Given the description of an element on the screen output the (x, y) to click on. 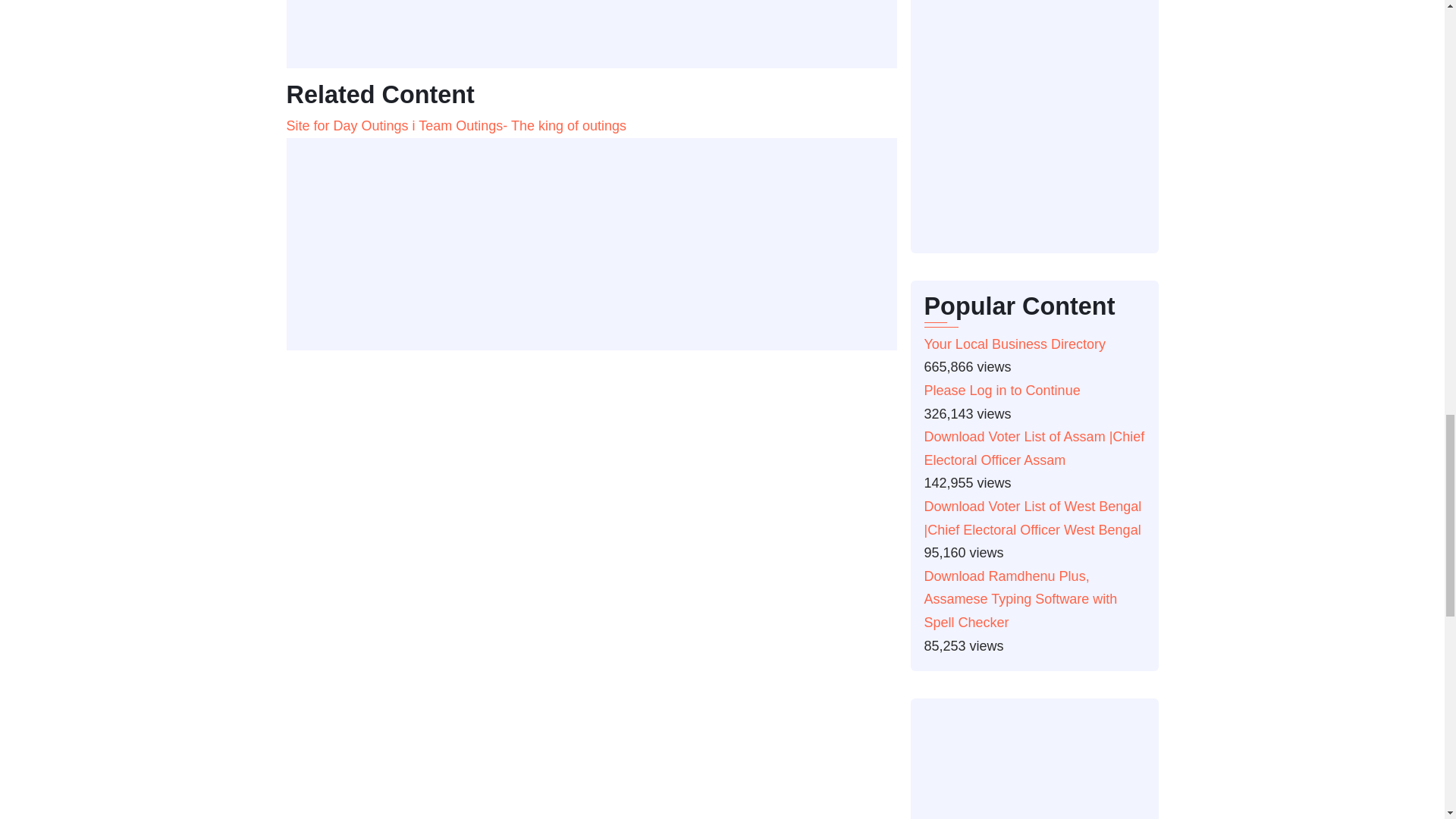
Site for Day Outings i Team Outings- The king of outings (456, 125)
Your Local Business Directory (1014, 344)
Please Log in to Continue (1001, 390)
